Given the description of an element on the screen output the (x, y) to click on. 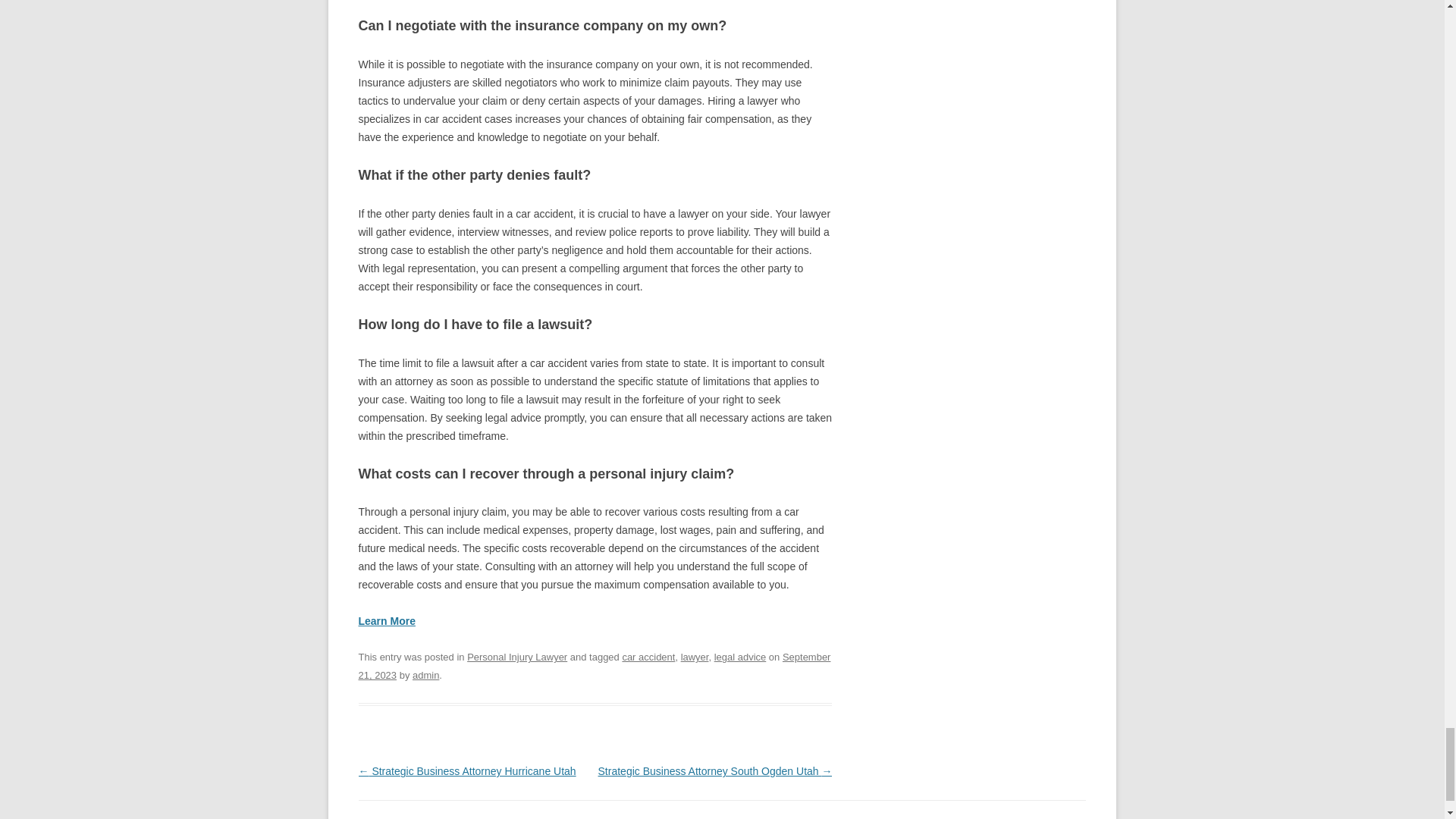
September 21, 2023 (593, 665)
Learn more about the Learn More here. (386, 621)
Personal Injury Lawyer (517, 656)
10:16 pm (593, 665)
legal advice (740, 656)
lawyer (695, 656)
View all posts by admin (425, 674)
admin (425, 674)
car accident (648, 656)
Learn More (386, 621)
